Given the description of an element on the screen output the (x, y) to click on. 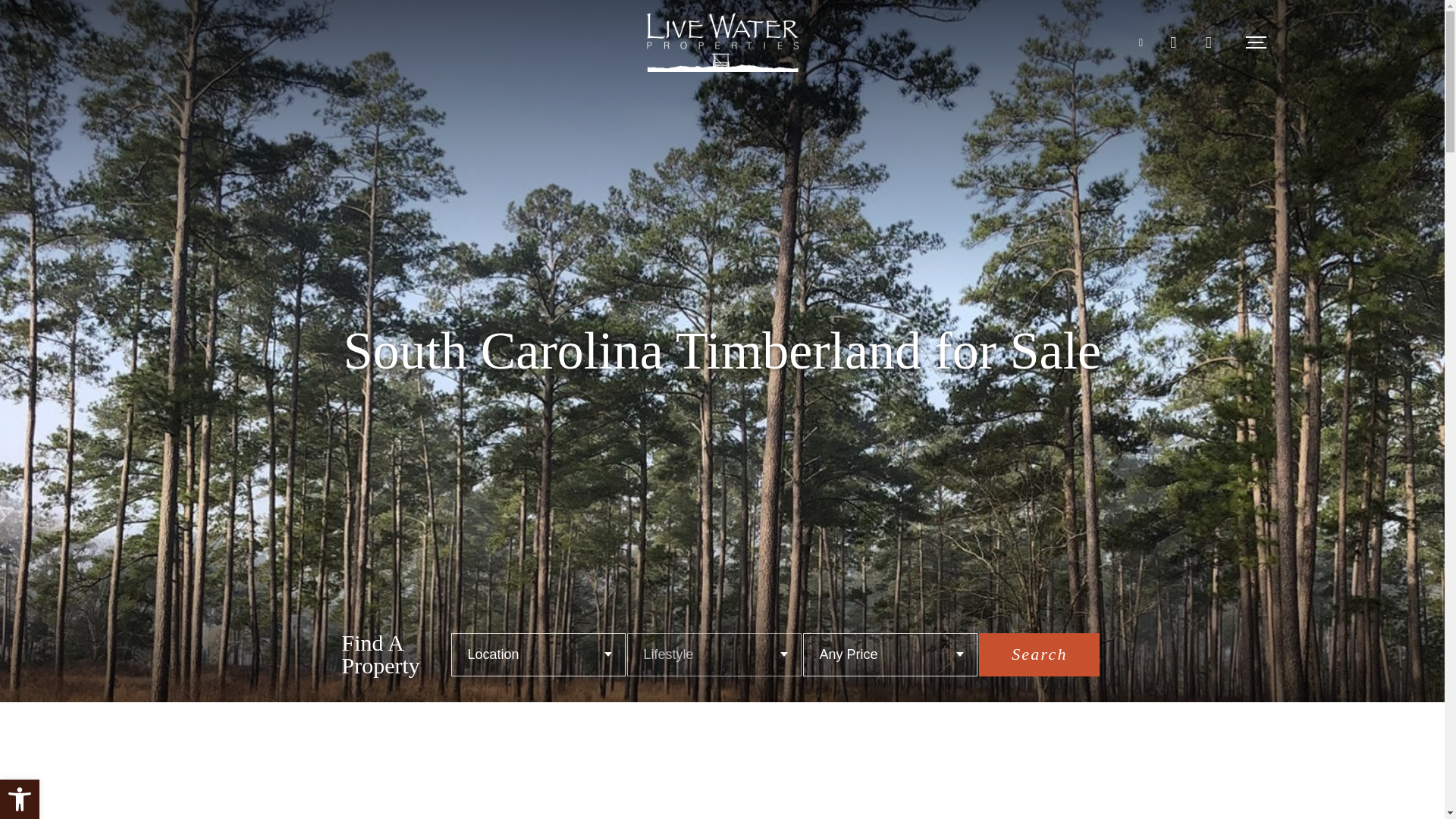
Accessibility Tools (19, 799)
Location (538, 654)
Accessibility Tools (19, 799)
Any Price (889, 654)
Search (1038, 654)
